Given the description of an element on the screen output the (x, y) to click on. 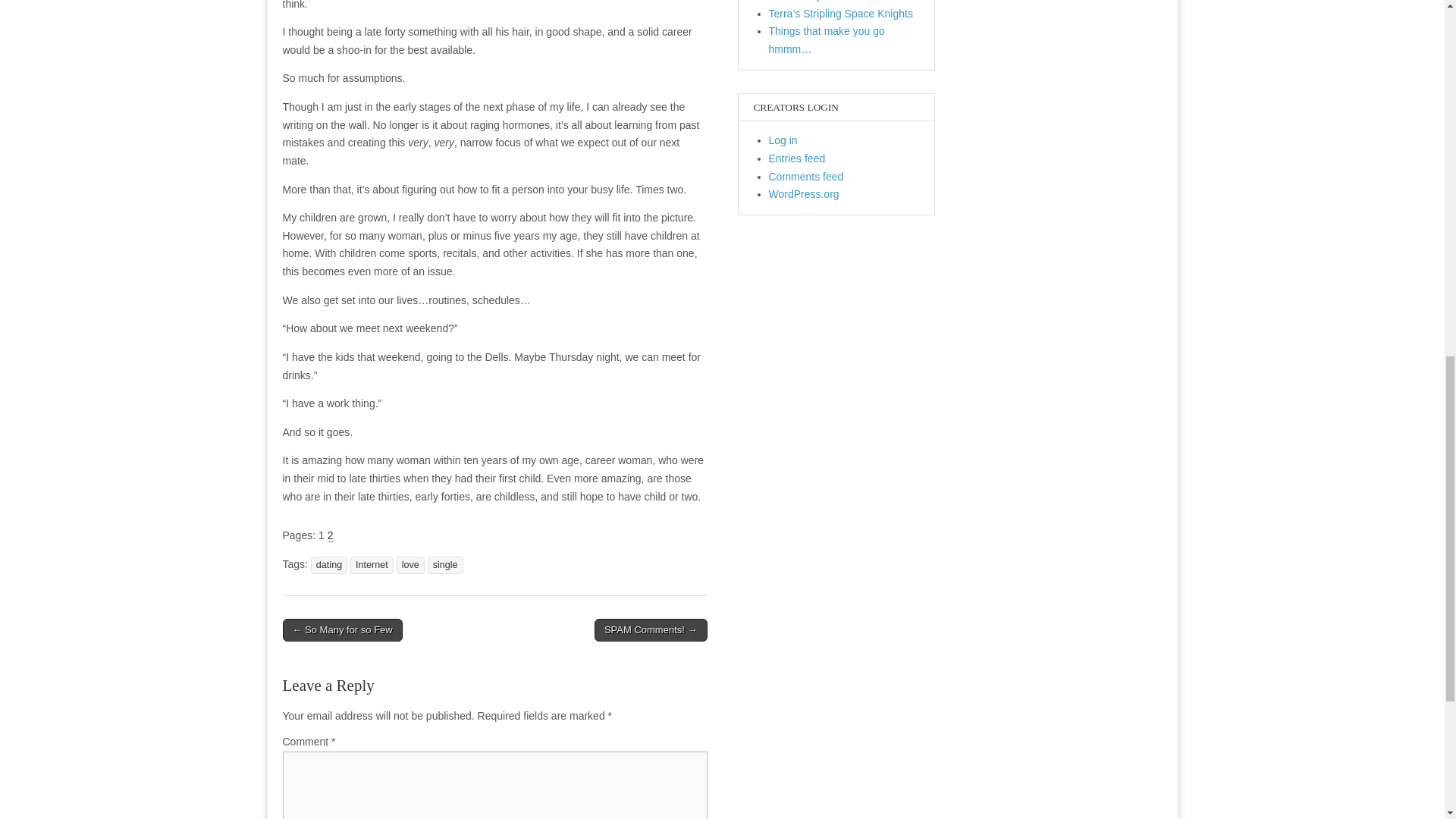
love (410, 565)
Internet (371, 565)
single (445, 565)
dating (329, 565)
